Given the description of an element on the screen output the (x, y) to click on. 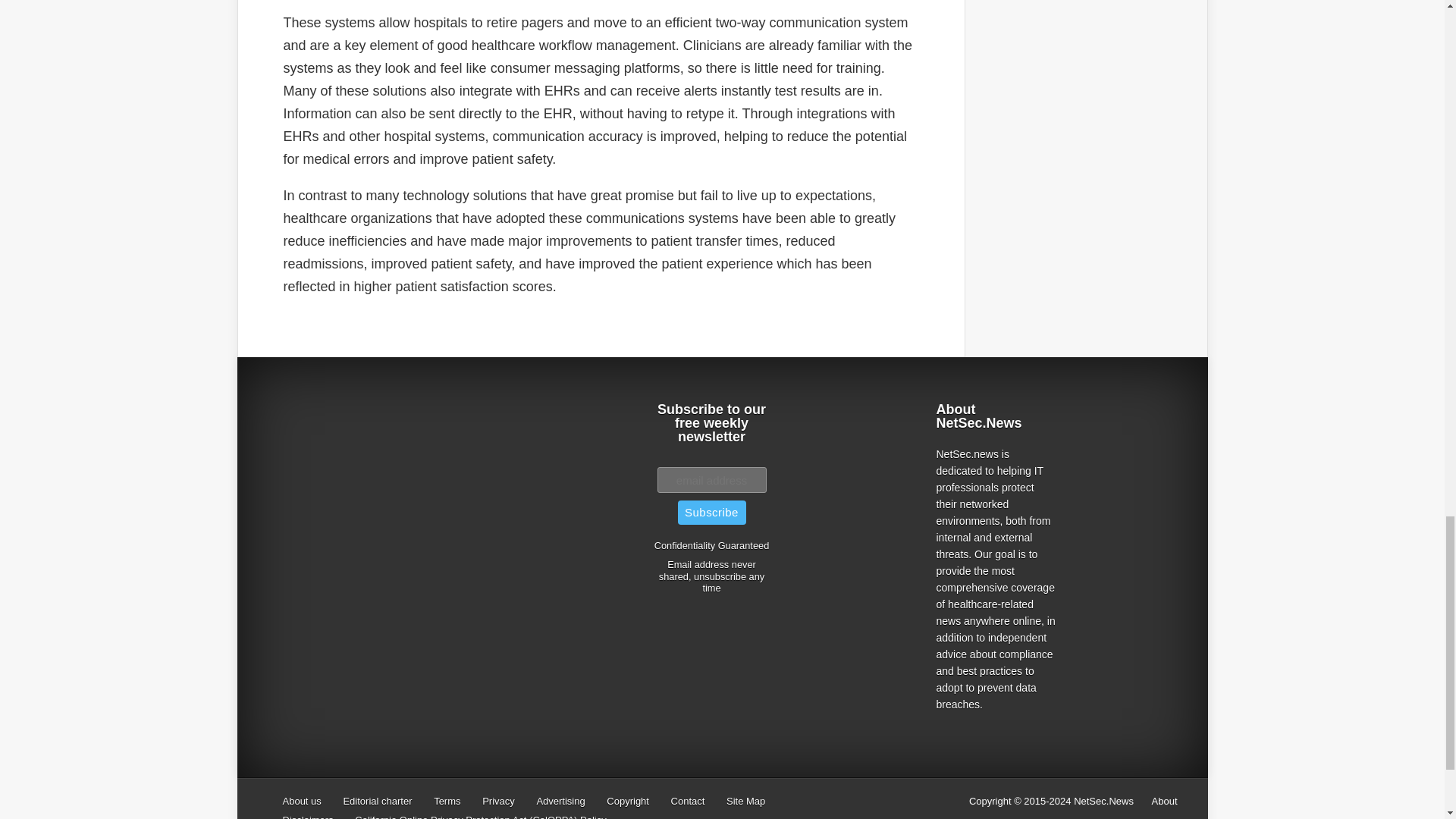
Subscribe (711, 512)
Advertising (560, 800)
Terms (446, 800)
Subscribe (711, 512)
About us (301, 800)
Contact (687, 800)
Privacy (498, 800)
Site Map (745, 800)
Editorial charter (377, 800)
Copyright (628, 800)
